Given the description of an element on the screen output the (x, y) to click on. 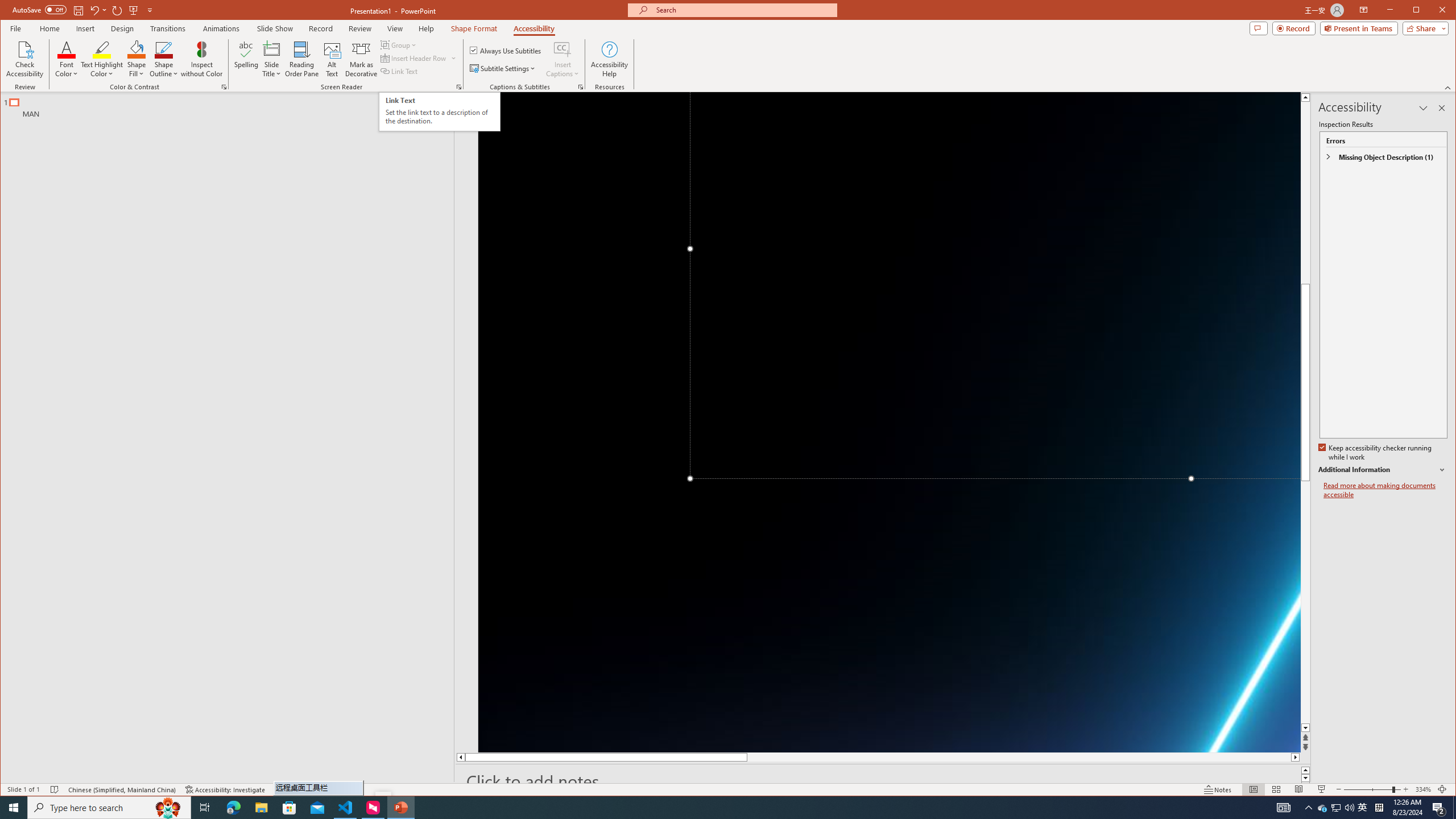
Mark as Decorative (360, 59)
Neon laser lights aligned to form a triangle (889, 421)
Group (399, 44)
Color & Contrast (223, 86)
